Given the description of an element on the screen output the (x, y) to click on. 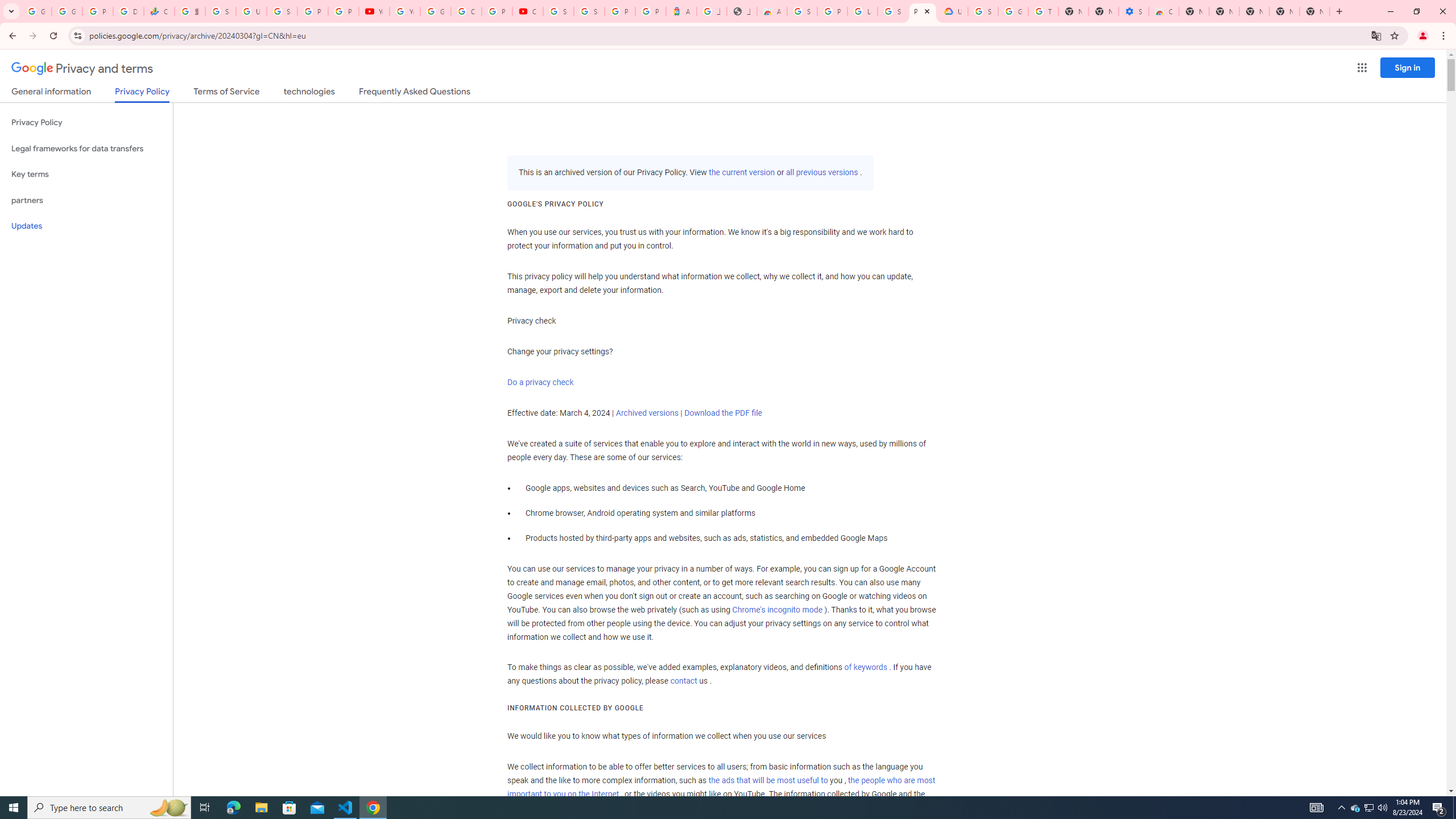
the current version (741, 172)
Sign in - Google Accounts (892, 11)
Google Account Help (1012, 11)
Legal frameworks for data transfers (86, 148)
YouTube (404, 11)
Sign in - Google Accounts (220, 11)
all previous versions (820, 172)
the people who are most important to you on the Internet (721, 787)
New Tab (1314, 11)
contact (683, 681)
Download the PDF file (722, 412)
